Given the description of an element on the screen output the (x, y) to click on. 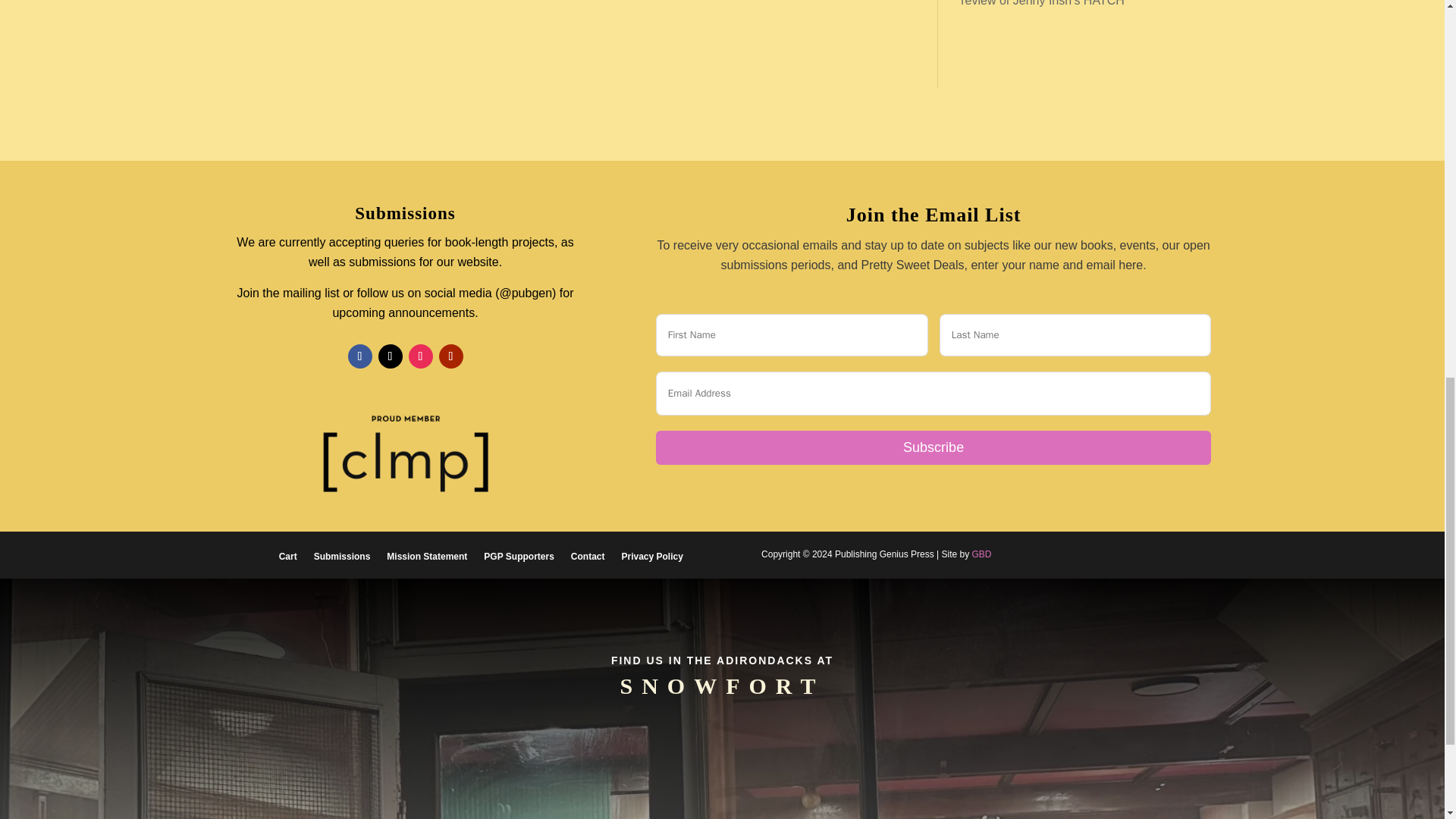
Website Designer (981, 553)
Follow on Youtube (451, 355)
BW-Print-Logo-transparent-background-with-full-text (405, 454)
Follow on Facebook (359, 355)
Follow on X (390, 355)
Follow on Instagram (420, 355)
